Given the description of an element on the screen output the (x, y) to click on. 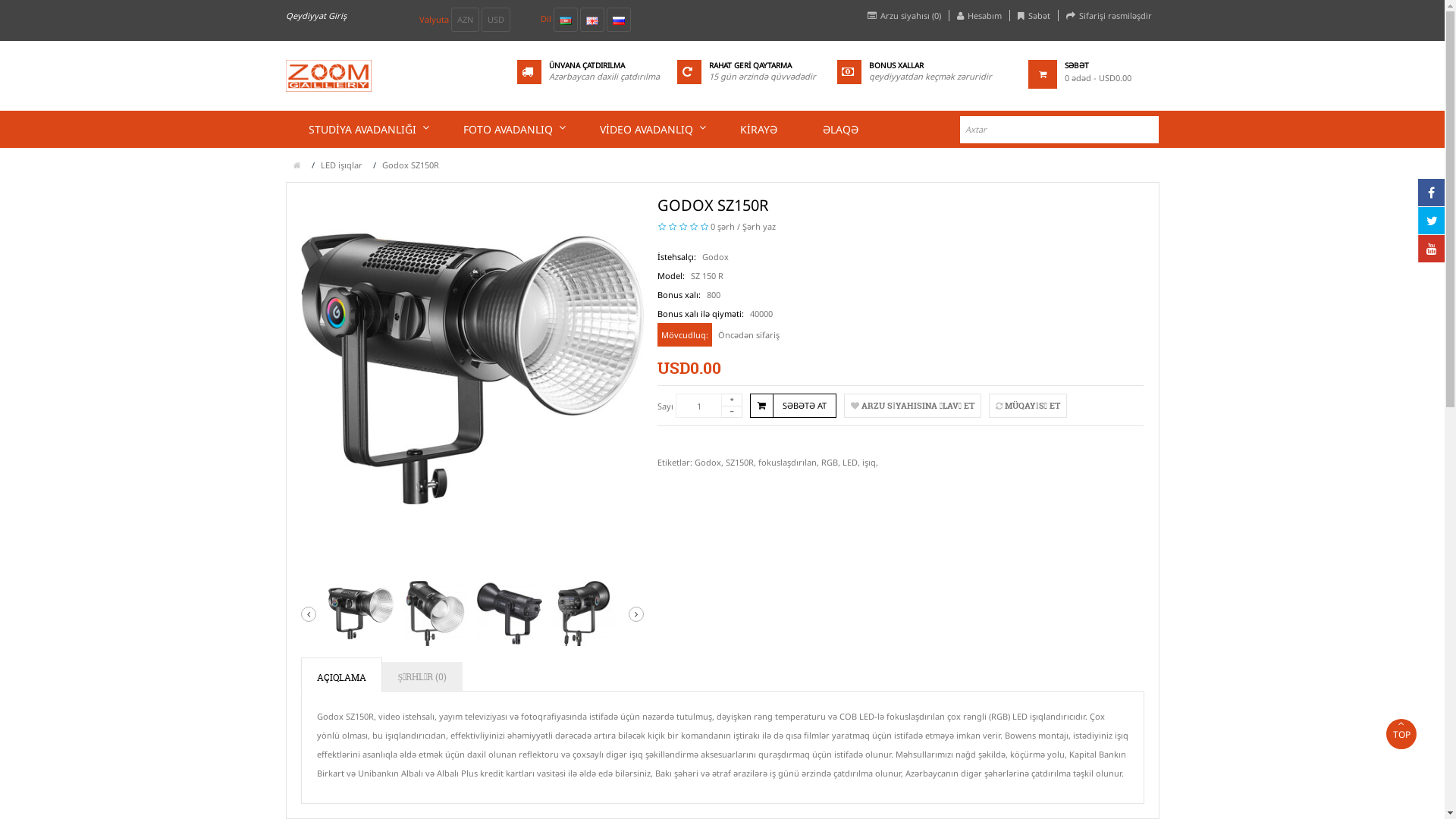
Godox SZ150R Element type: hover (360, 613)
SZ150R Element type: text (739, 461)
Godox SZ150R Element type: hover (509, 613)
Godox Element type: text (715, 256)
Godox SZ150R Element type: hover (435, 613)
English Element type: hover (591, 20)
Godox SZ150R Element type: hover (583, 613)
Russian Element type: hover (618, 20)
Zoom Gallery Element type: hover (327, 75)
Godox SZ150R Element type: hover (583, 613)
Godox SZ150R Element type: hover (509, 613)
TOP Element type: text (1401, 733)
Godox SZ150R Element type: hover (471, 368)
AZN Element type: text (464, 19)
Godox SZ150R Element type: hover (360, 613)
Qeydiyyat Element type: text (305, 15)
VIDEO AVADANLIQ Element type: text (646, 128)
LED Element type: text (849, 461)
Azerbaijani Element type: hover (565, 20)
RGB Element type: text (829, 461)
USD Element type: text (494, 19)
Godox Element type: text (707, 461)
Godox SZ150R Element type: hover (434, 613)
FOTO AVADANLIQ Element type: text (507, 128)
Godox SZ150R Element type: text (410, 164)
